Given the description of an element on the screen output the (x, y) to click on. 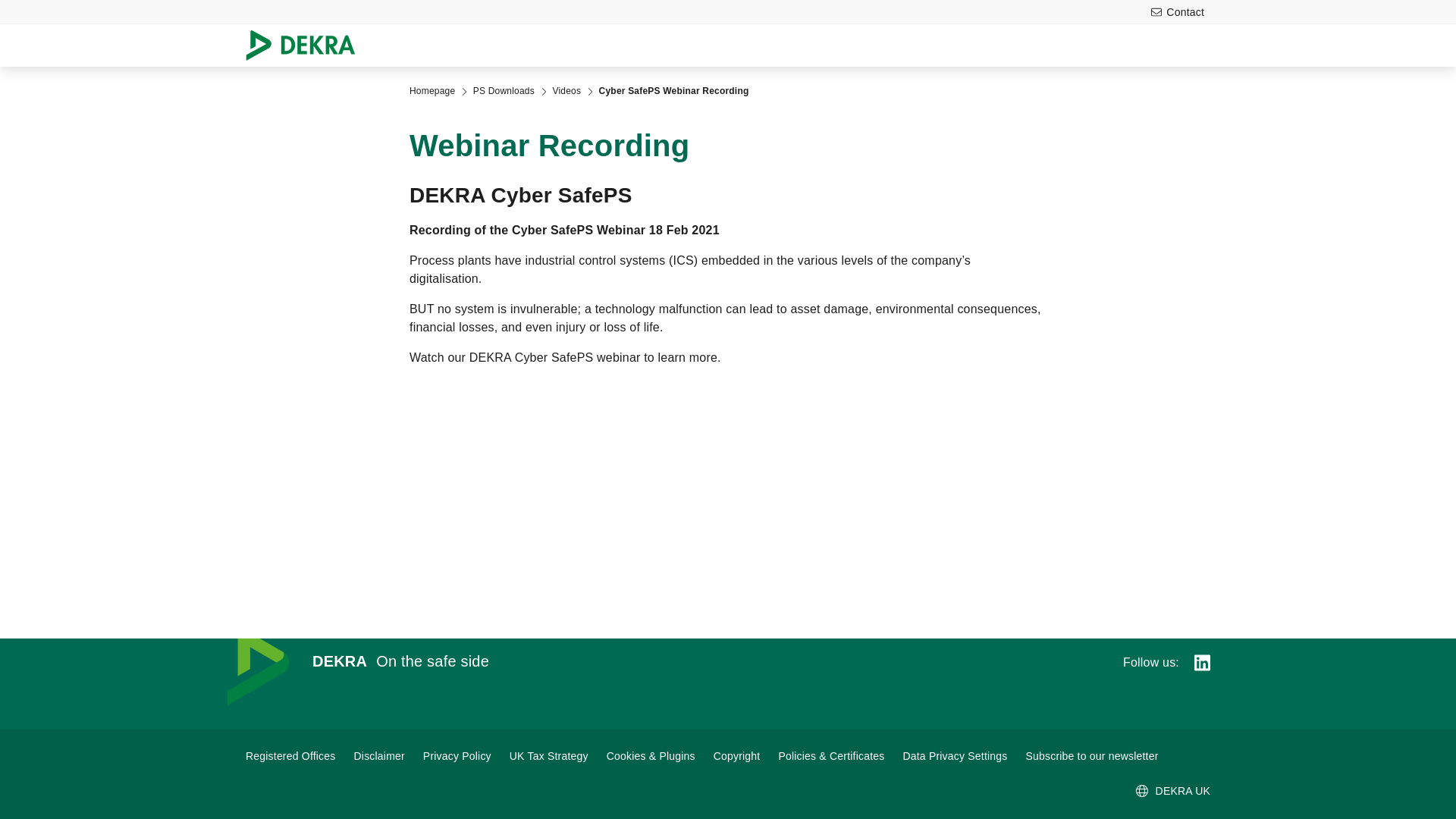
Contact (1176, 11)
linkedin (1201, 662)
Homepage (431, 91)
PS Downloads (503, 91)
Logo (307, 45)
Videos (565, 91)
Search (1248, 45)
DEKRA Subscribe to our newsletter (1091, 755)
